Given the description of an element on the screen output the (x, y) to click on. 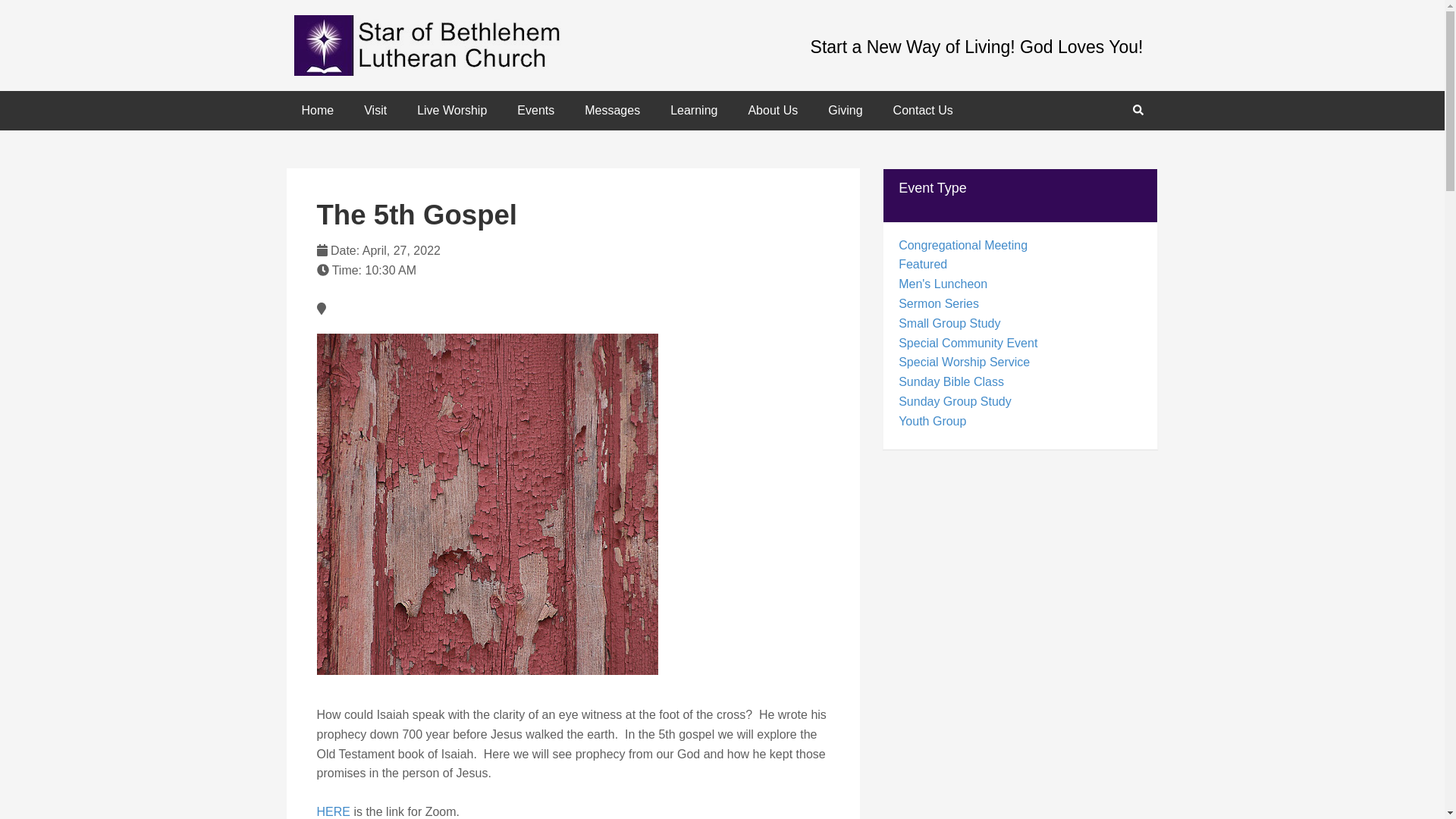
Giving (844, 110)
Messages (612, 110)
About Us (772, 110)
Featured (922, 264)
Youth Group (932, 420)
Special Community Event (967, 342)
Special Worship Service (963, 361)
Men's Luncheon (942, 283)
Look to the Star (445, 45)
Live Worship (451, 110)
Contact Us (922, 110)
Events (535, 110)
Learning (693, 110)
Home (317, 110)
